Given the description of an element on the screen output the (x, y) to click on. 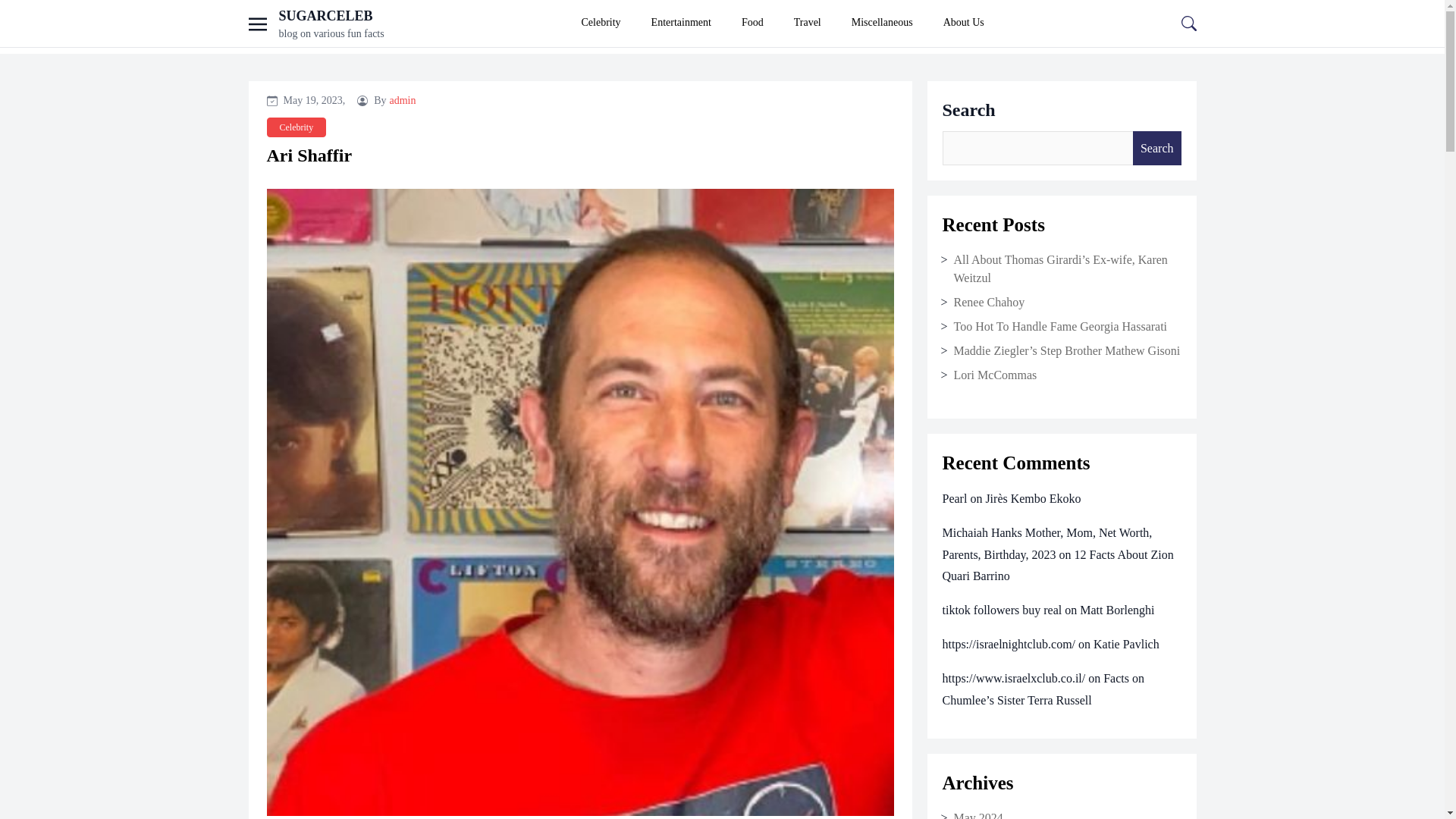
Miscellaneous (881, 22)
Food (752, 22)
Celebrity (600, 22)
Celebrity (296, 121)
admin (403, 94)
About Us (963, 22)
Entertainment (681, 22)
SUGARCELEB (325, 15)
Travel (806, 22)
